Given the description of an element on the screen output the (x, y) to click on. 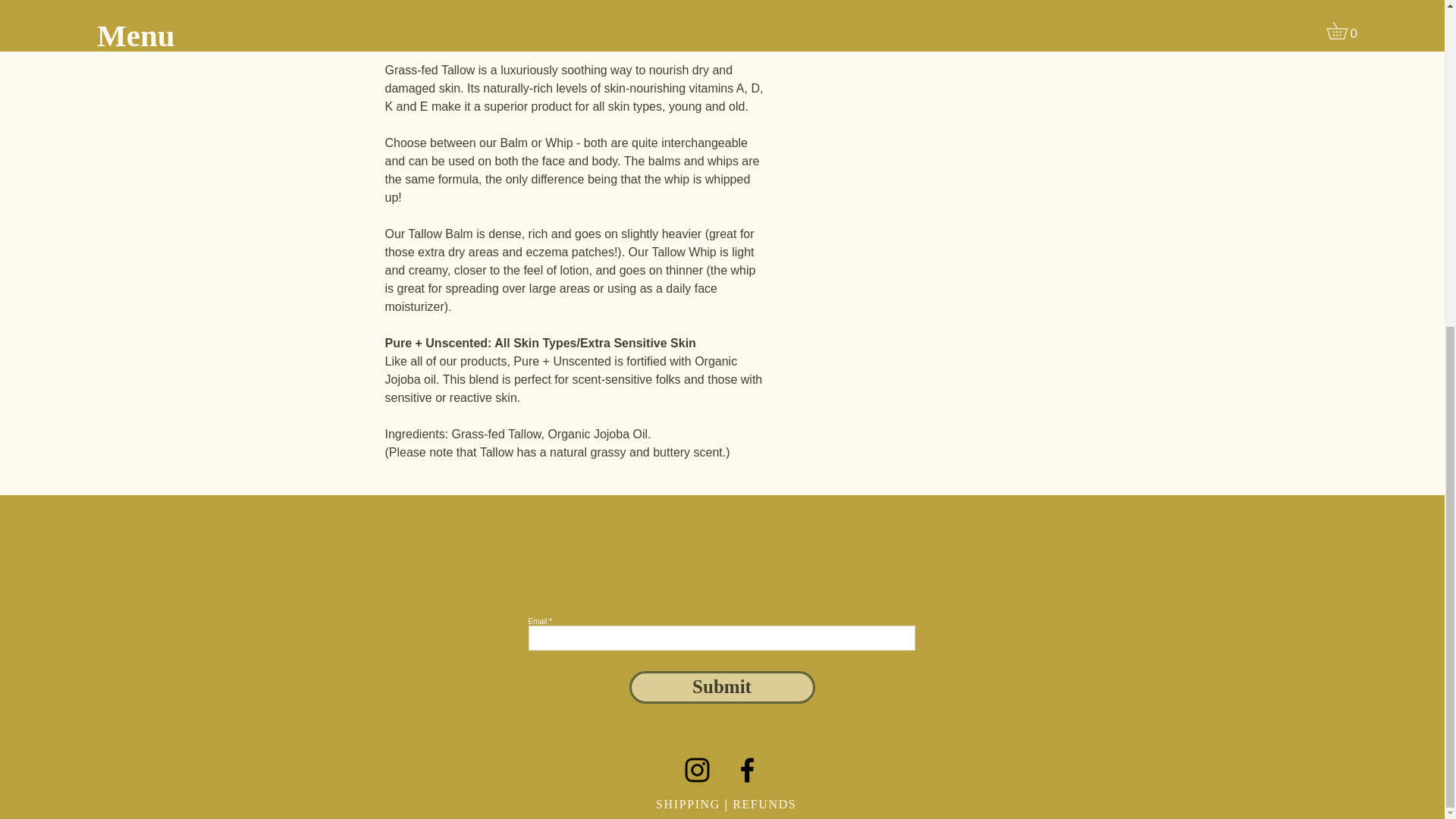
SHIPPING (688, 803)
REFUNDS  (766, 803)
Submit (721, 686)
